Given the description of an element on the screen output the (x, y) to click on. 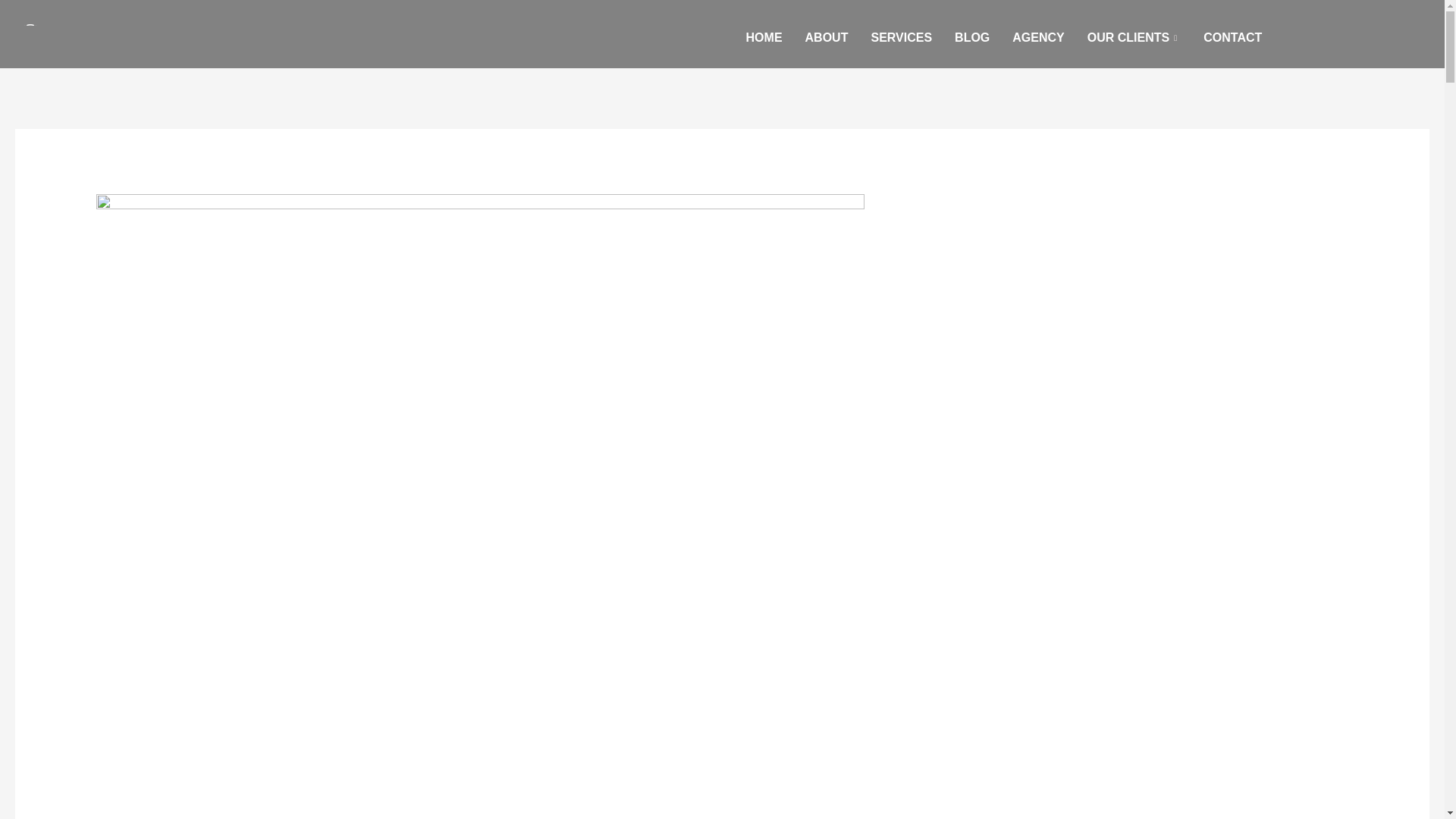
SERVICES (901, 37)
AGENCY (1038, 37)
BLOG (972, 37)
ABOUT (826, 37)
CONTACT (1232, 37)
HOME (764, 37)
OUR CLIENTS (1133, 37)
